Given the description of an element on the screen output the (x, y) to click on. 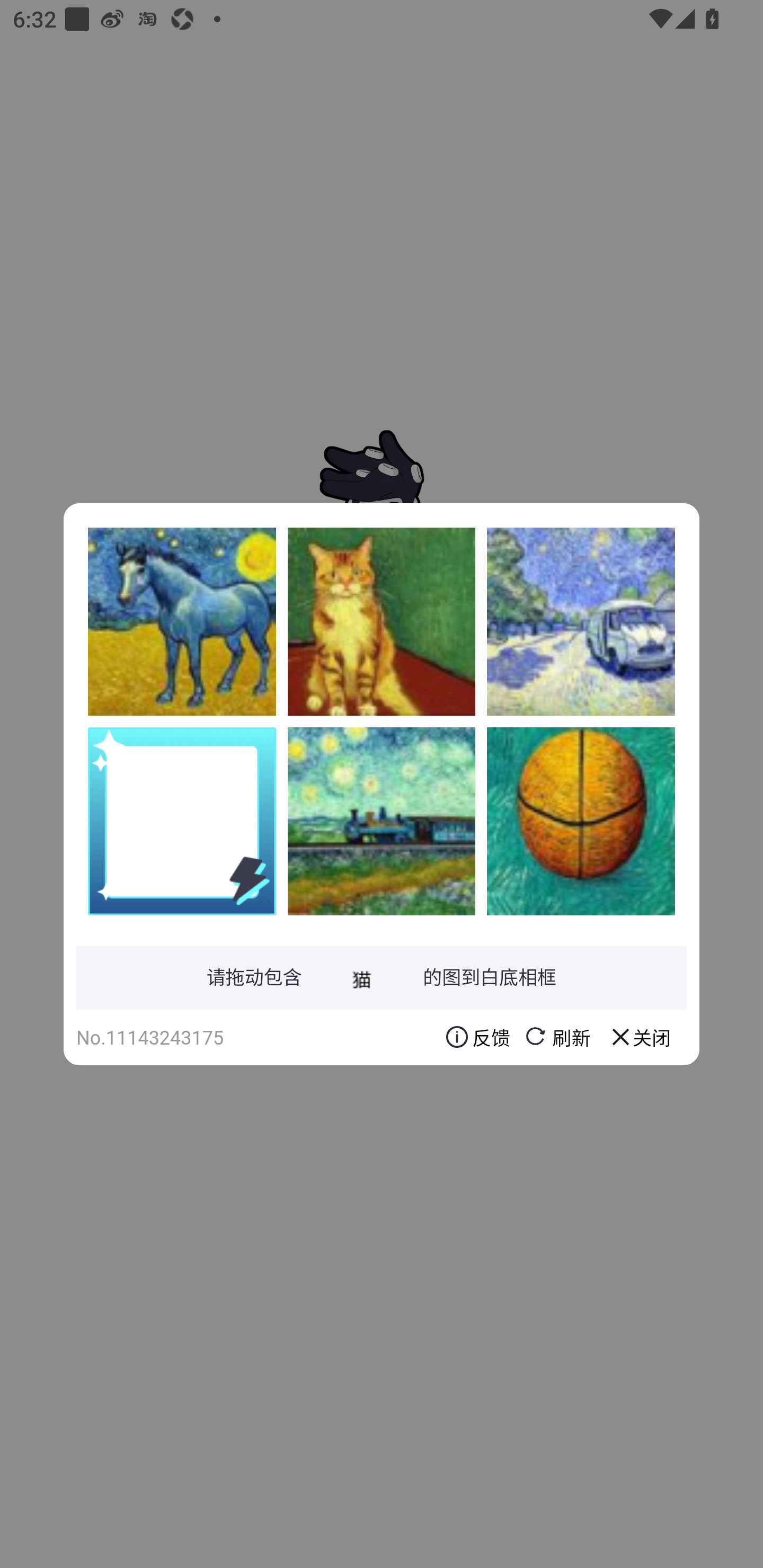
4nuk3PzH64g1TX72ldvEaCa0dpHT3kjw4JOxqxq (181, 621)
ciIc3y (381, 621)
RprCDdFCyVMBZ1owr0 (381, 820)
